Given the description of an element on the screen output the (x, y) to click on. 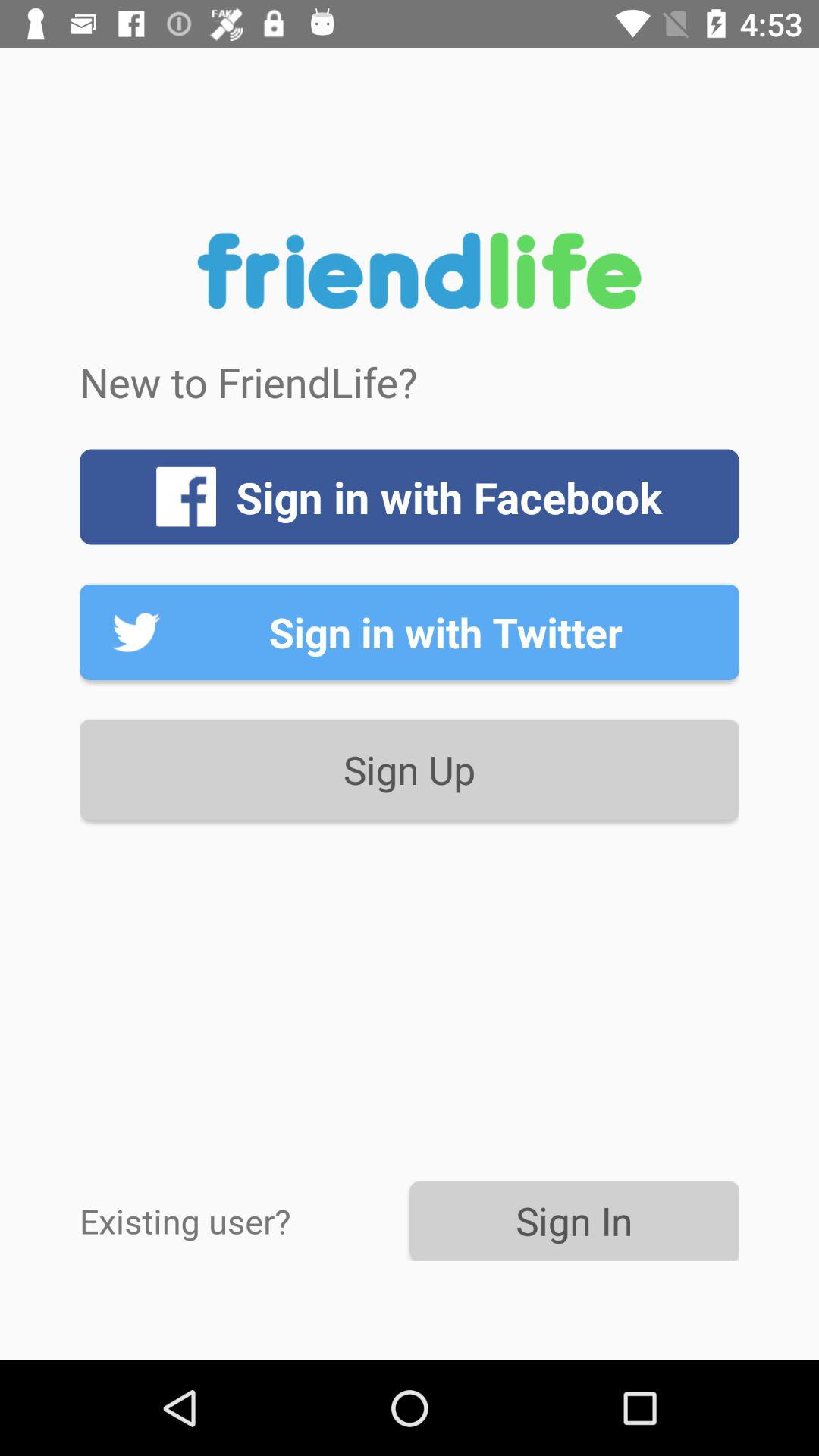
select icon below the sign in with (409, 769)
